Given the description of an element on the screen output the (x, y) to click on. 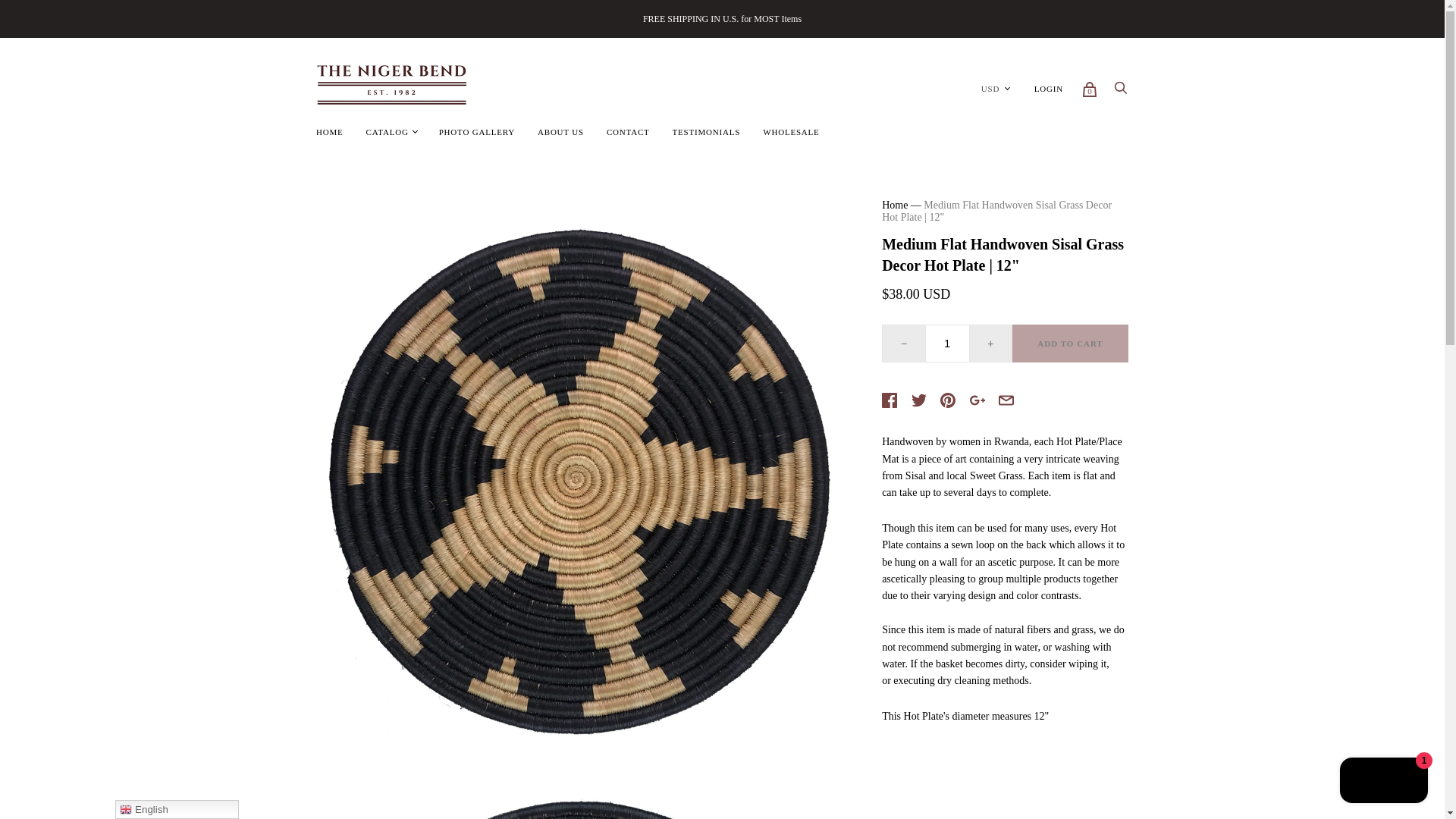
HOME (329, 132)
Shopify online store chat (1383, 781)
CATALOG (387, 132)
1 (947, 343)
Home (894, 204)
